Given the description of an element on the screen output the (x, y) to click on. 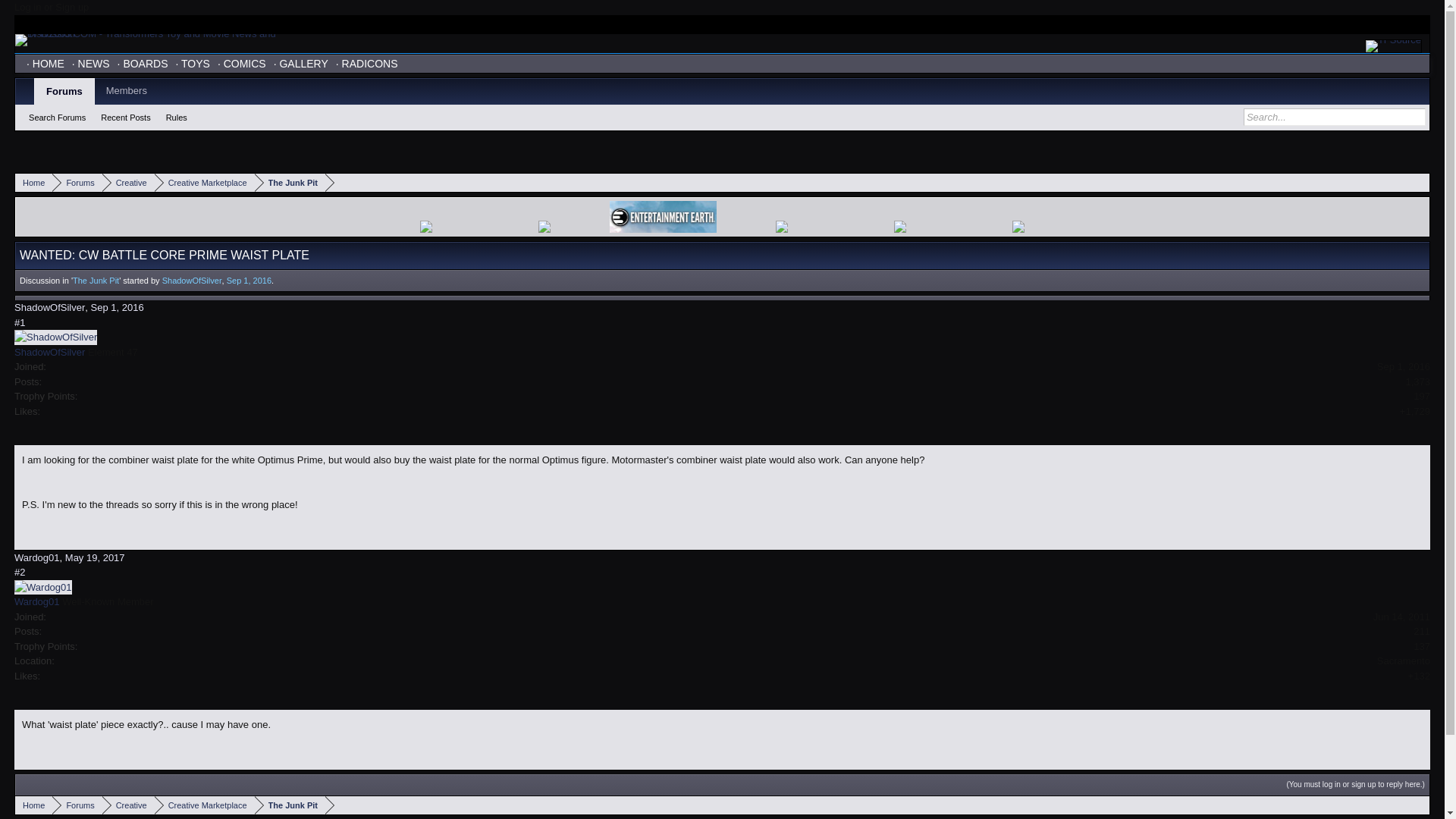
Sep 1, 2016 (248, 280)
Permalink (117, 307)
137 (1421, 645)
TFW2005.COM - Transformers Toy and Movie News and Discussion (147, 39)
Creative Marketplace (204, 181)
Visit Toyark.com for Action Figures and Toys (1391, 24)
TFSource (1393, 46)
Wardog01 (36, 601)
Permalink (19, 322)
The Junk Pit (289, 181)
ShadowOfSilver (49, 351)
Log in or Sign up (51, 7)
Open quick navigation (1420, 804)
Open quick navigation (1420, 182)
ShadowOfSilver (191, 280)
